Given the description of an element on the screen output the (x, y) to click on. 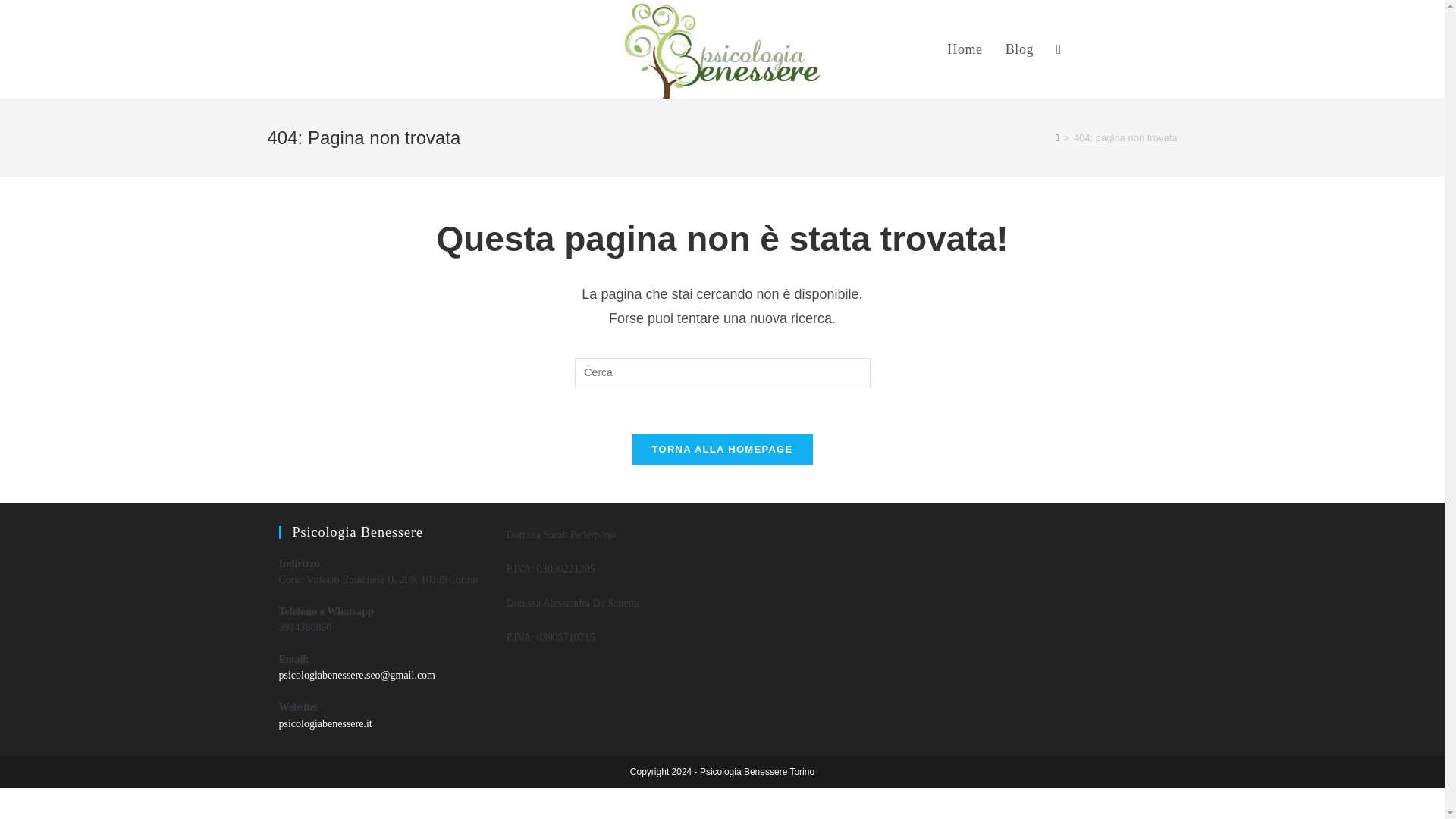
psicologiabenessere.it (325, 723)
Blog (1019, 48)
Home (964, 48)
TORNA ALLA HOMEPAGE (721, 449)
